Given the description of an element on the screen output the (x, y) to click on. 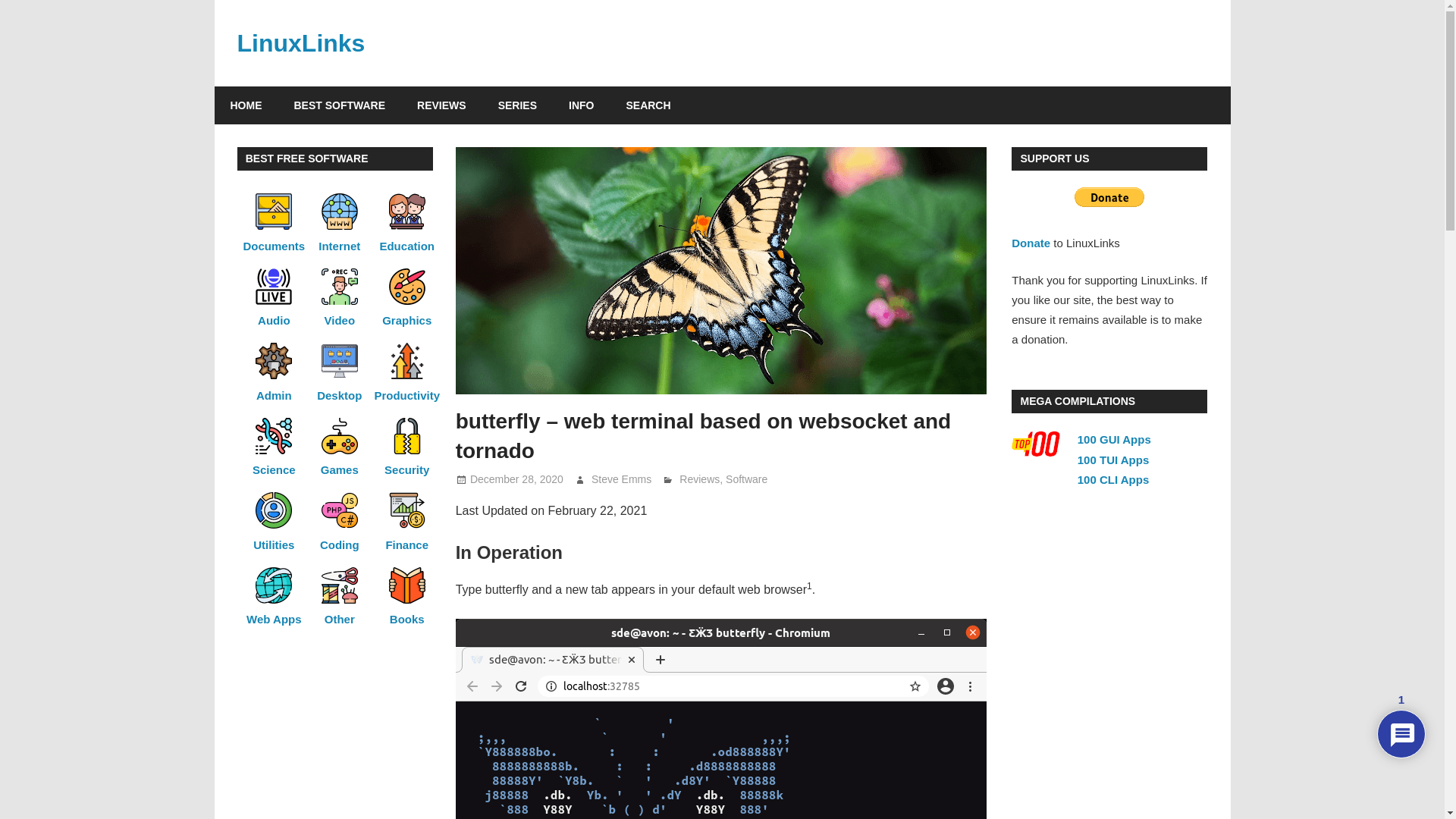
Steve Emms (620, 479)
SERIES (517, 105)
SEARCH (647, 105)
REVIEWS (441, 105)
December 28, 2020 (516, 479)
10:20 am (516, 479)
View all posts by Steve Emms (620, 479)
Software (746, 479)
LinuxLinks (300, 42)
Reviews (699, 479)
